Given the description of an element on the screen output the (x, y) to click on. 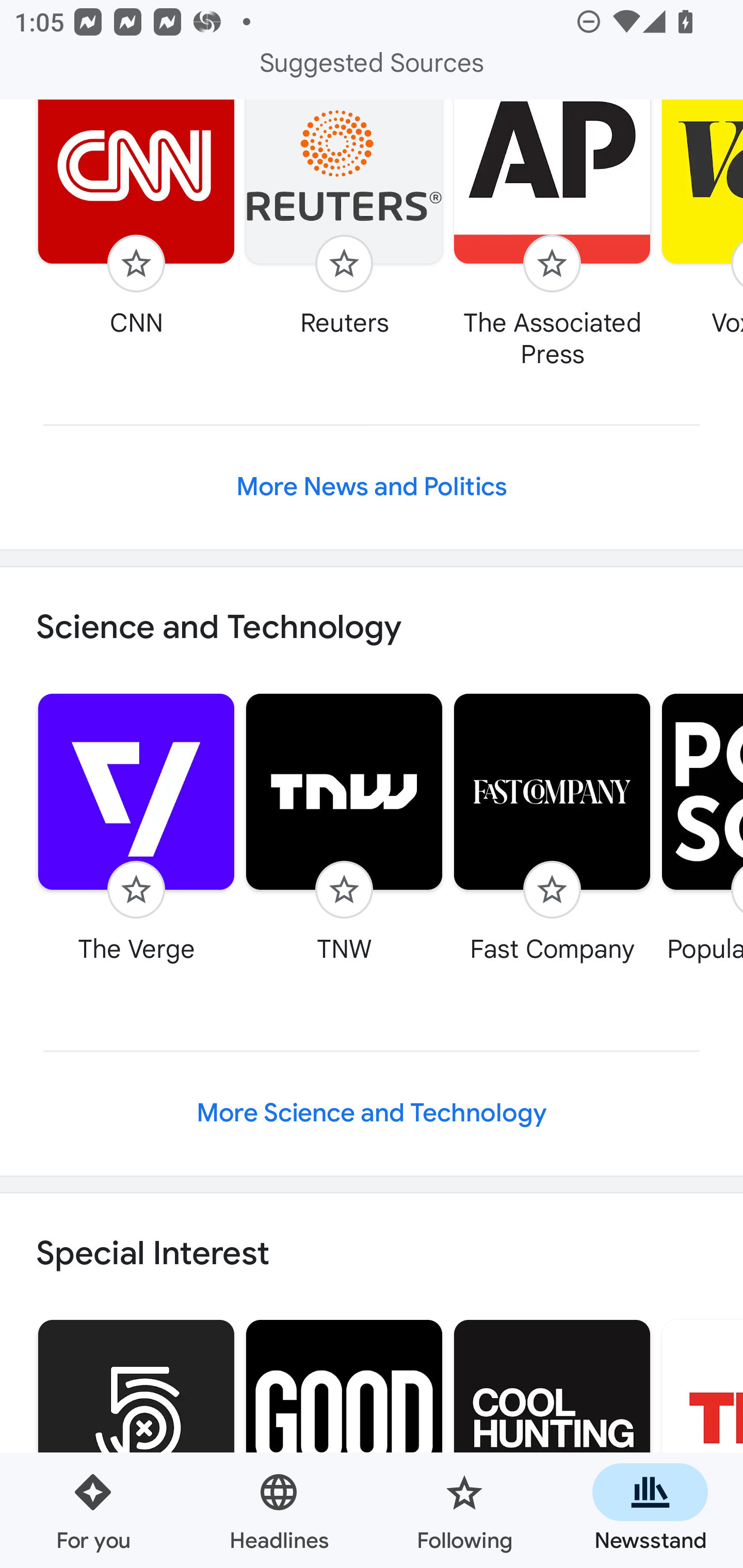
Follow CNN (136, 219)
Follow Reuters (344, 219)
Follow The Associated Press (552, 235)
Follow (135, 264)
Follow (343, 264)
Follow (552, 264)
More News and Politics (371, 486)
Science and Technology (371, 627)
Follow The Verge (136, 827)
Follow TNW (344, 827)
Follow Fast Company (552, 827)
Follow (135, 889)
Follow (343, 889)
Follow (552, 889)
More Science and Technology (371, 1113)
Special Interest (371, 1253)
For you (92, 1509)
Headlines (278, 1509)
Following (464, 1509)
Newsstand (650, 1509)
